Given the description of an element on the screen output the (x, y) to click on. 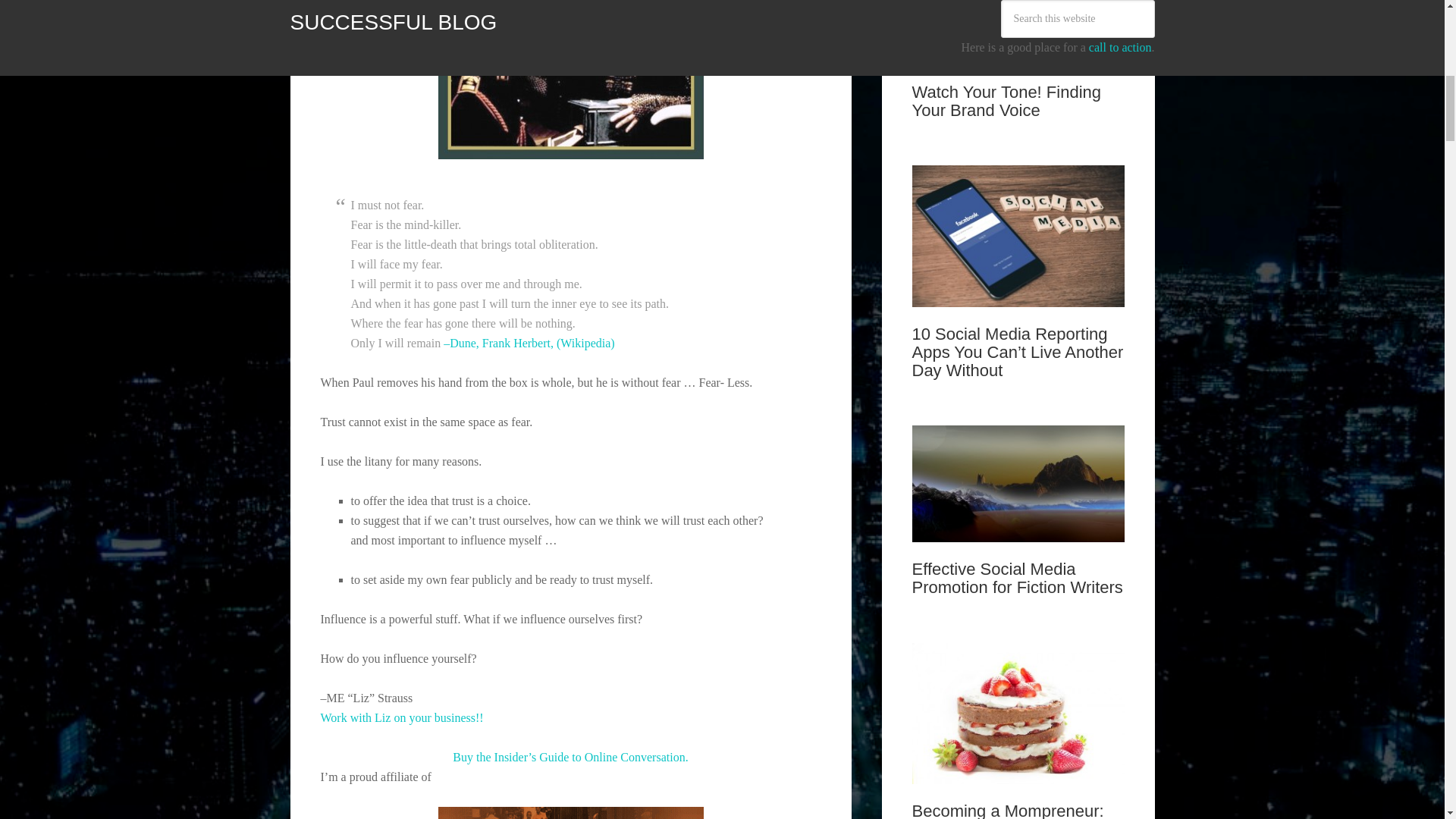
third-tribe-marketing (570, 812)
Work with Liz on your business!! (401, 717)
